Given the description of an element on the screen output the (x, y) to click on. 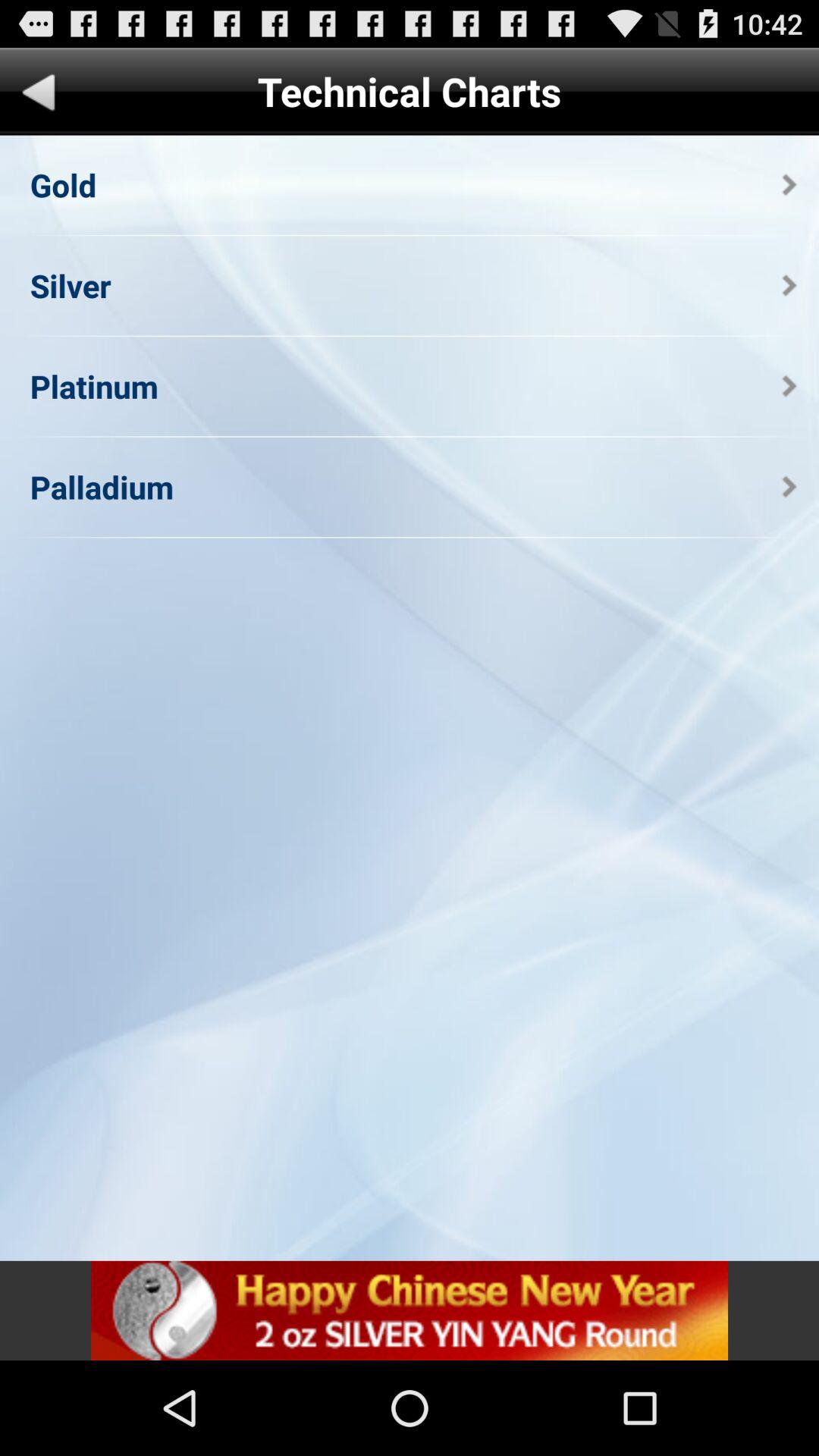
jump to the silver app (70, 285)
